Given the description of an element on the screen output the (x, y) to click on. 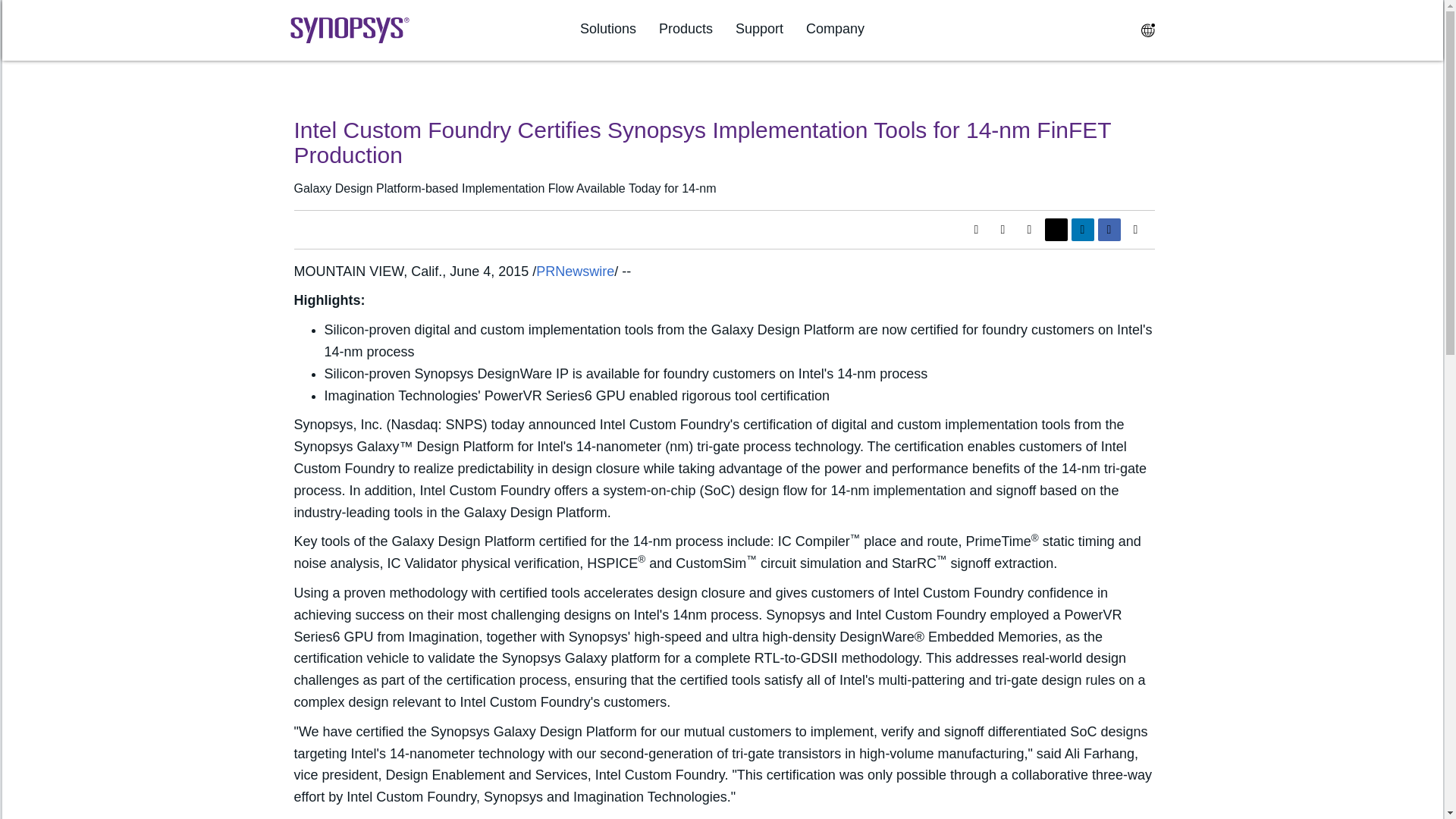
print (1029, 229)
Linkedin Share (1081, 229)
Facebook Share (1109, 229)
pdf (975, 229)
Support (759, 28)
Twitter Share (1056, 229)
Solutions (607, 28)
email (1135, 229)
rss (1002, 229)
Products (686, 28)
Company (835, 28)
